Given the description of an element on the screen output the (x, y) to click on. 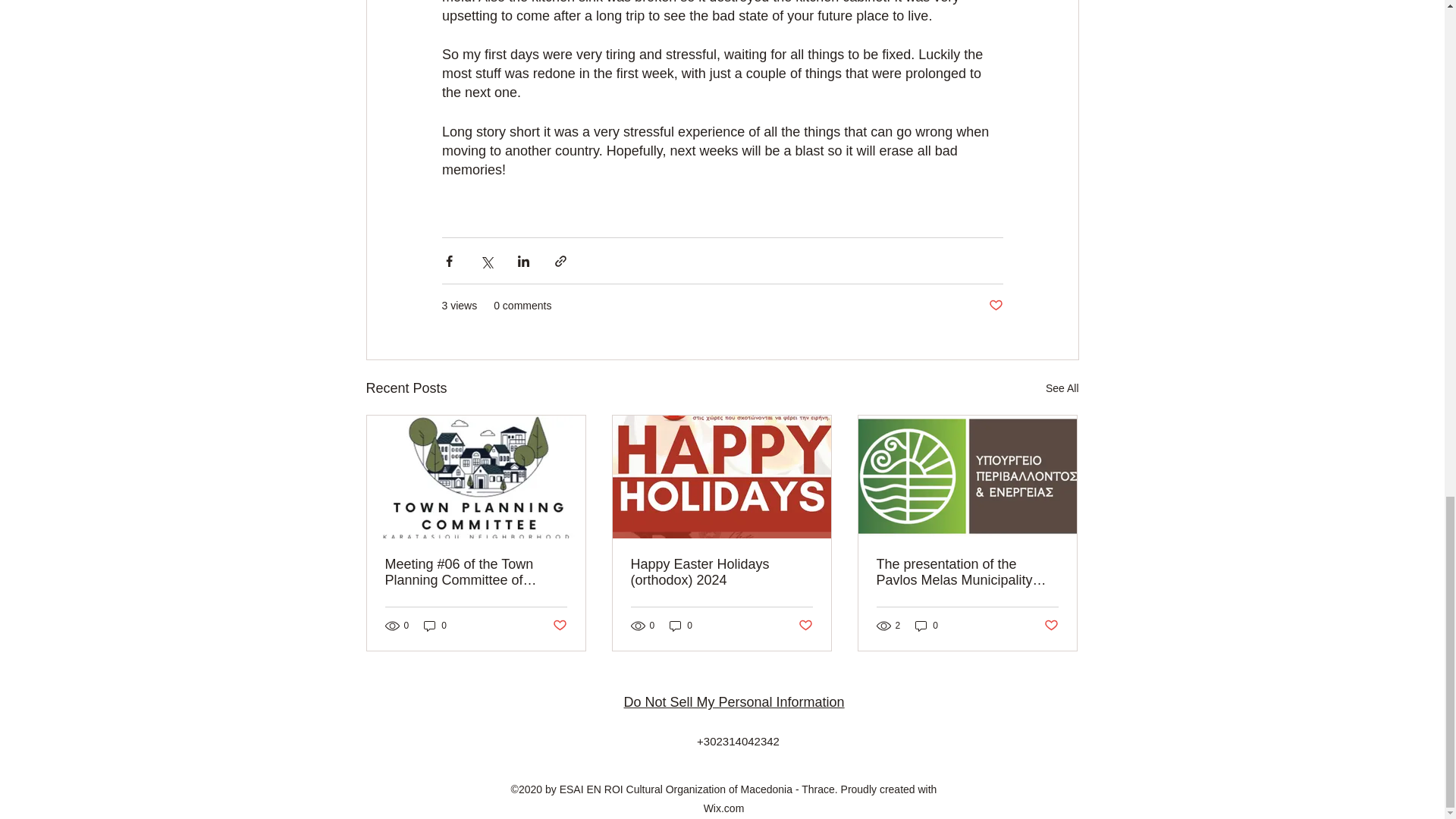
Post not marked as liked (995, 305)
Post not marked as liked (804, 625)
Post not marked as liked (558, 625)
See All (1061, 388)
0 (681, 626)
Post not marked as liked (1050, 625)
0 (926, 626)
Do Not Sell My Personal Information (733, 702)
0 (435, 626)
